Given the description of an element on the screen output the (x, y) to click on. 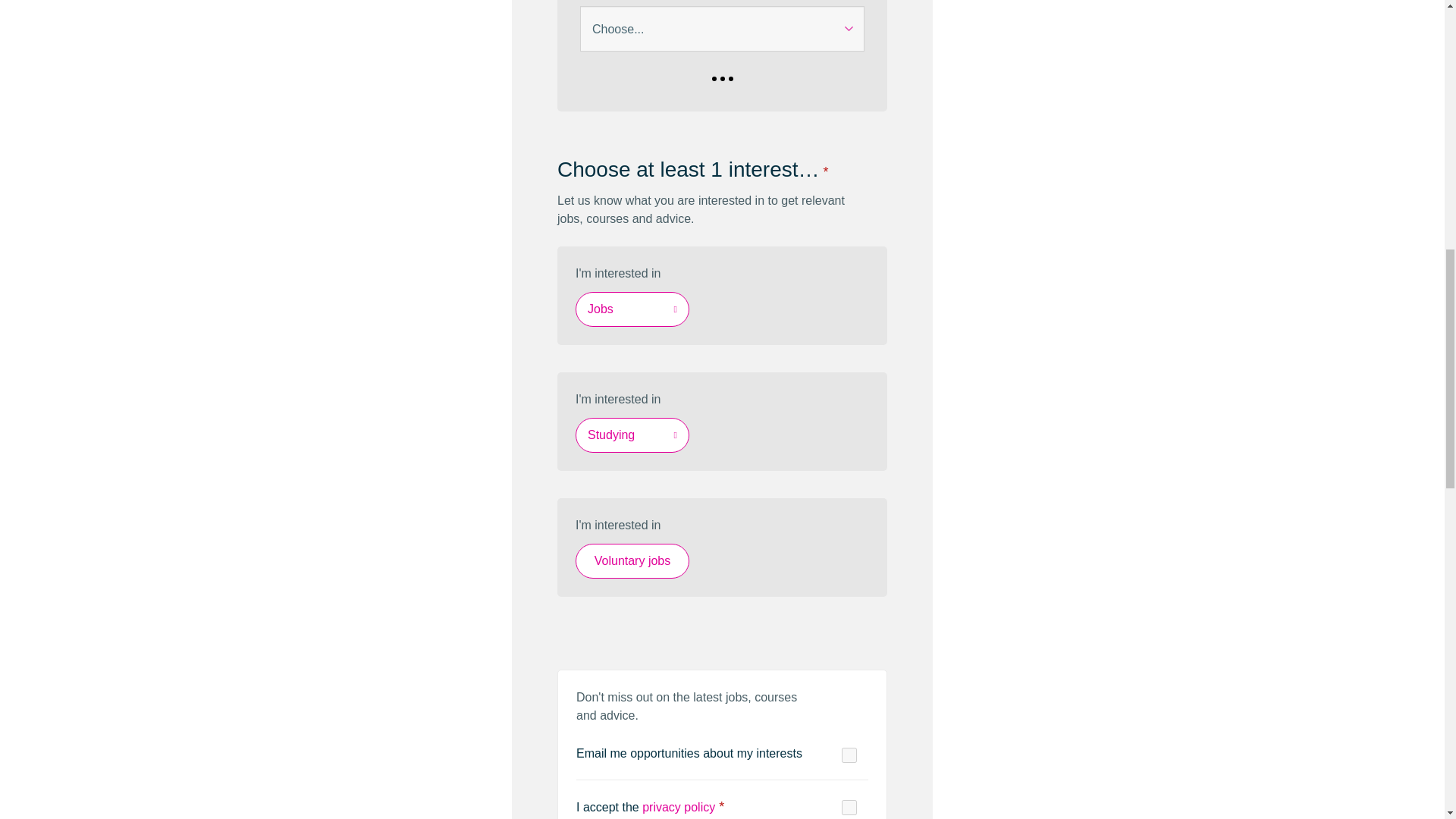
true (849, 754)
true (849, 807)
